Given the description of an element on the screen output the (x, y) to click on. 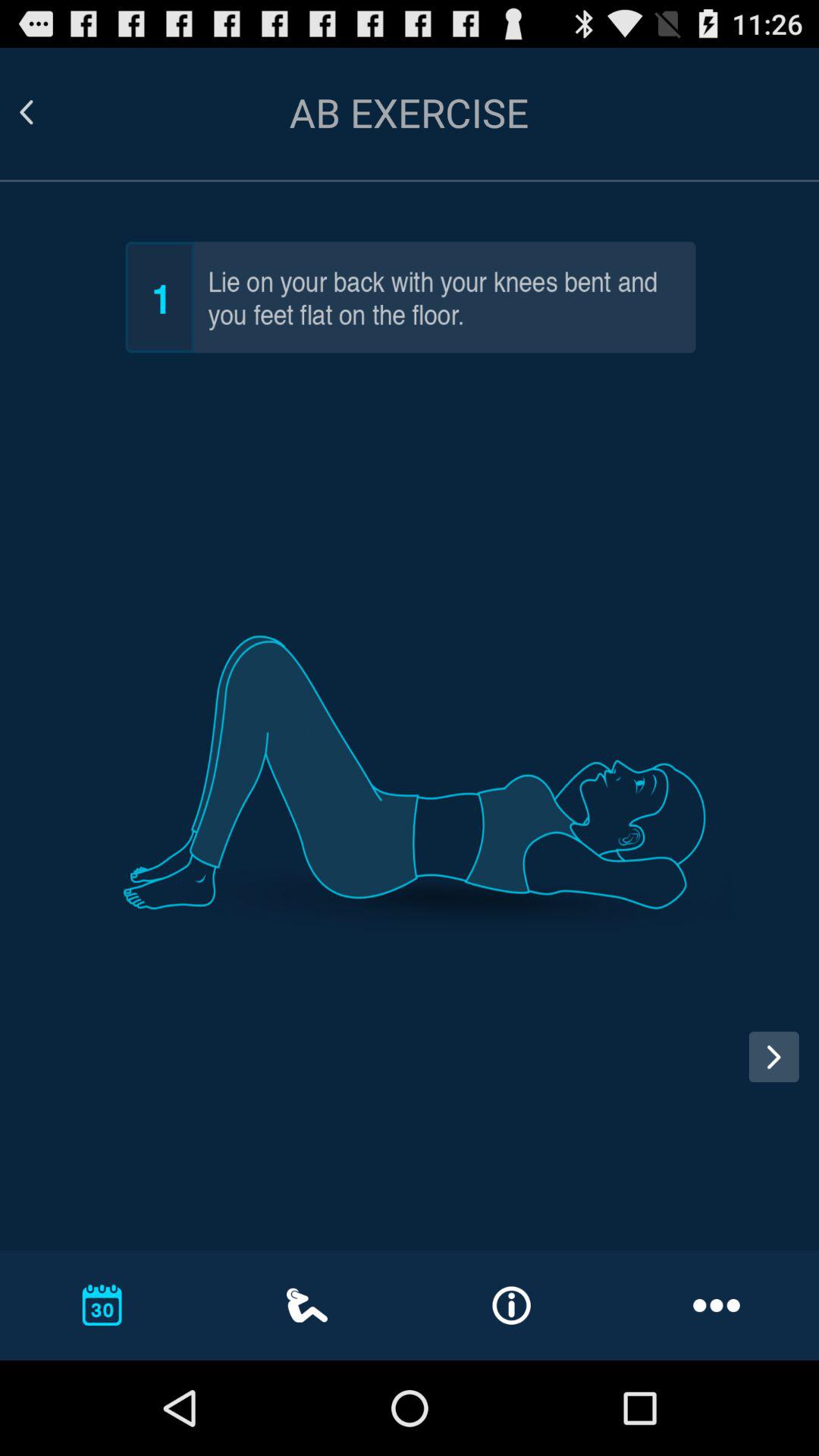
click on the first button from the bottom left corner (102, 1304)
